Given the description of an element on the screen output the (x, y) to click on. 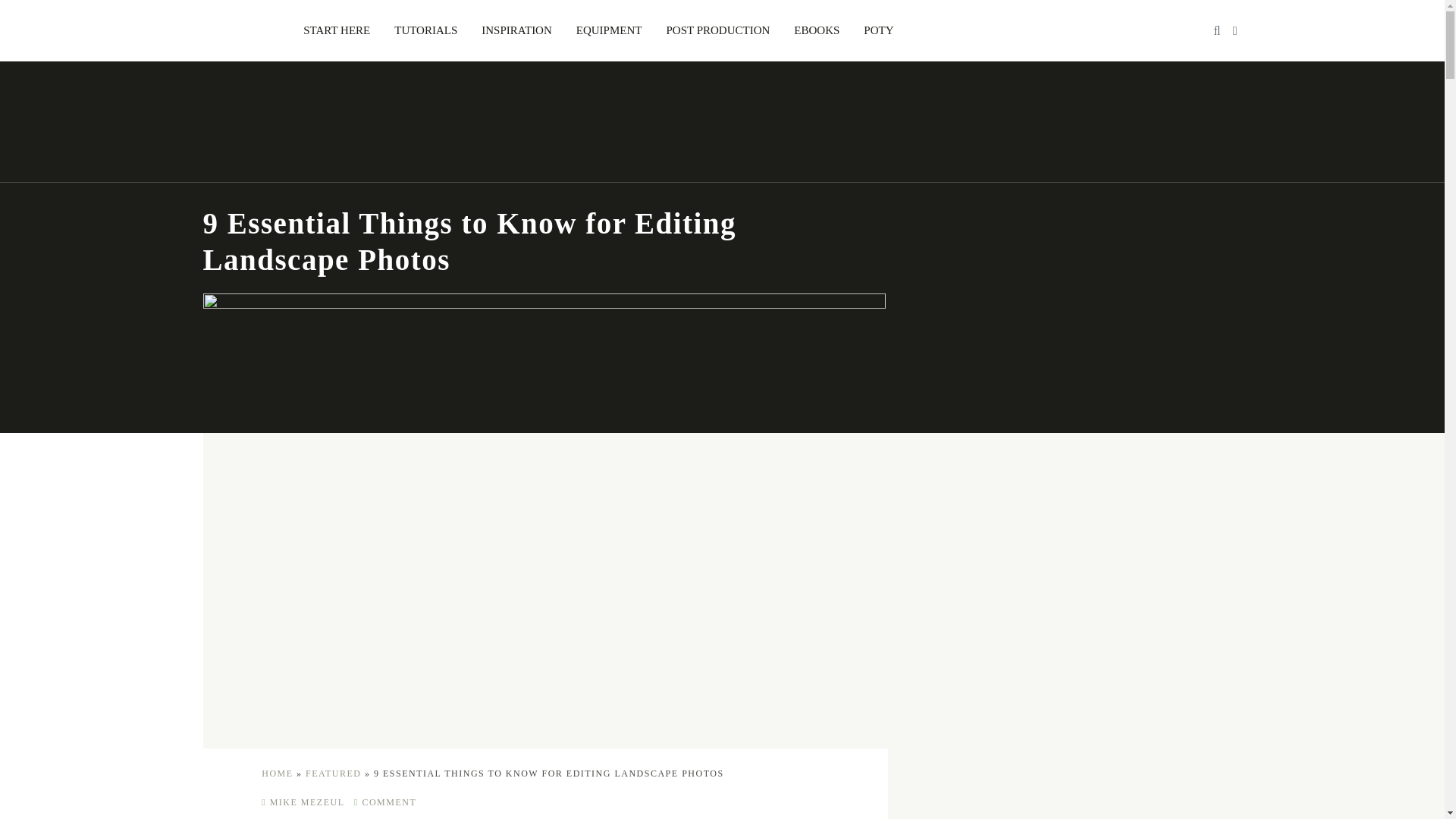
START HERE (336, 30)
TUTORIALS (424, 30)
